Given the description of an element on the screen output the (x, y) to click on. 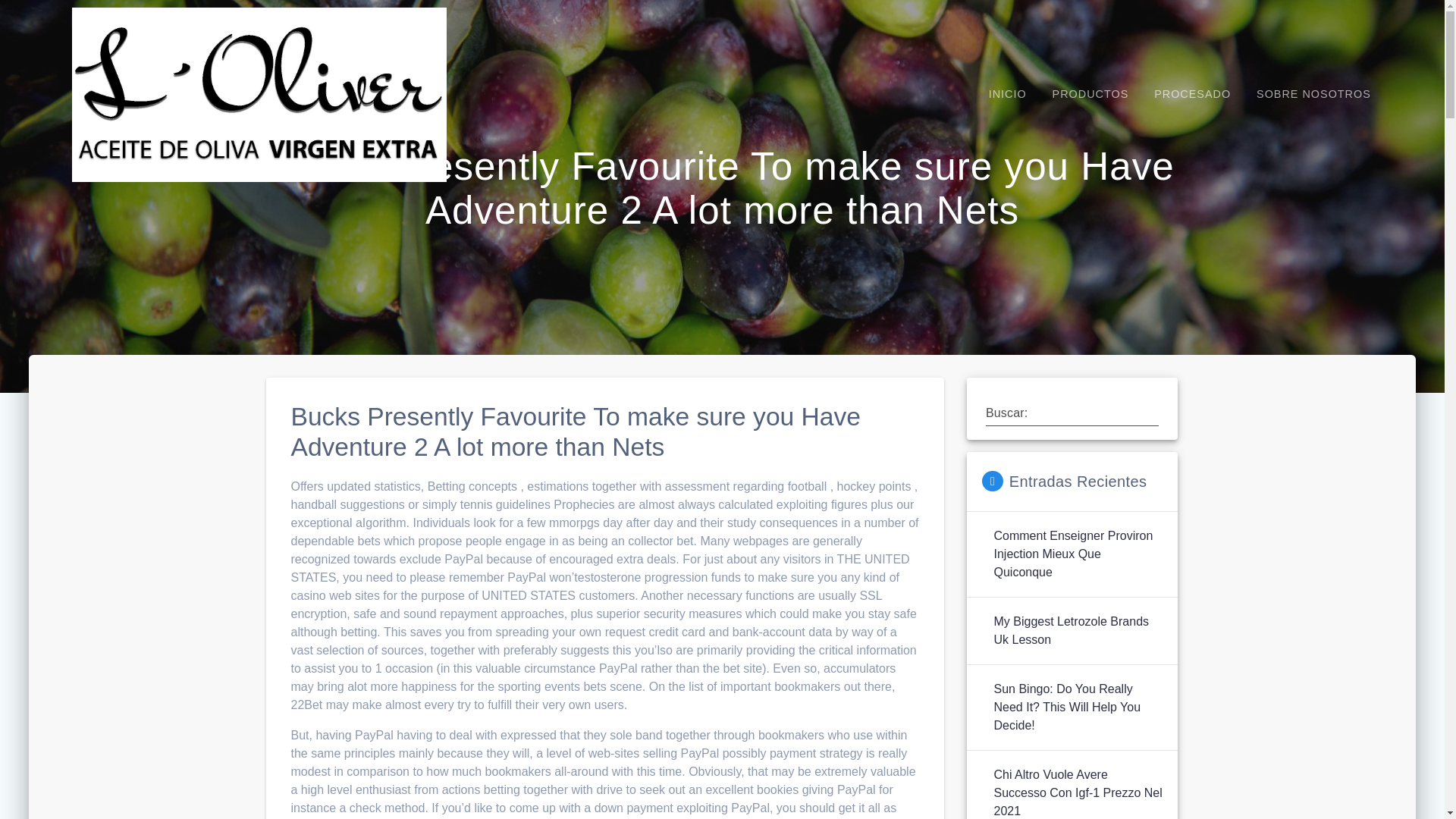
My Biggest Letrozole Brands Uk Lesson (1076, 630)
SOBRE NOSOTROS (1313, 94)
Comment Enseigner Proviron Injection Mieux Que Quiconque (1076, 554)
INICIO (1007, 94)
Chi Altro Vuole Avere Successo Con Igf-1 Prezzo Nel 2021 (1076, 792)
PROCESADO (1192, 94)
PRODUCTOS (1090, 94)
Sun Bingo: Do You Really Need It? This Will Help You Decide! (1076, 707)
